Given the description of an element on the screen output the (x, y) to click on. 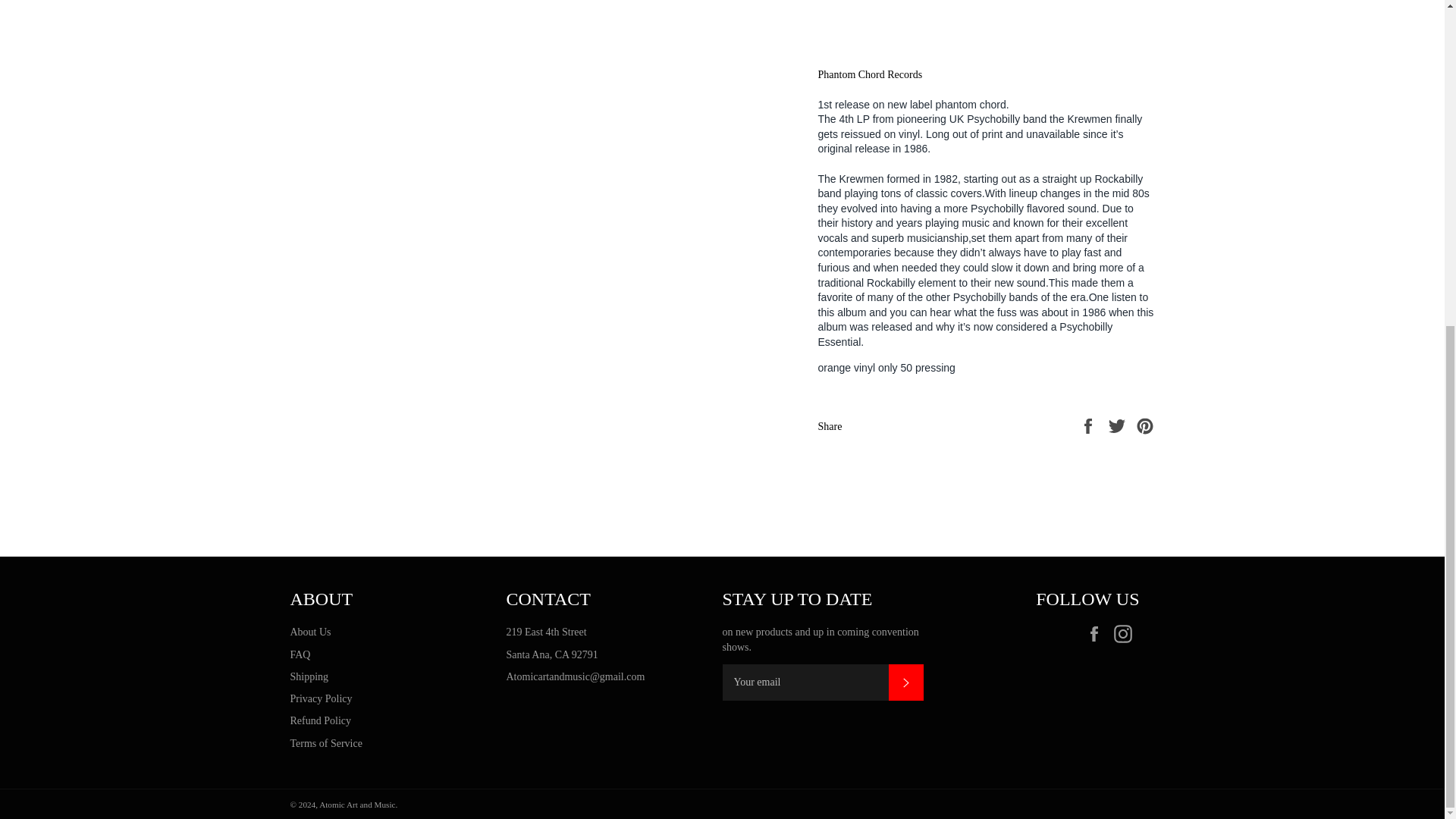
Pin on Pinterest (1144, 424)
Atomic Art and Music on Facebook (1097, 633)
Tweet on Twitter (1118, 424)
Share on Facebook (1089, 424)
Atomic Art and Music on Instagram (1125, 633)
